Given the description of an element on the screen output the (x, y) to click on. 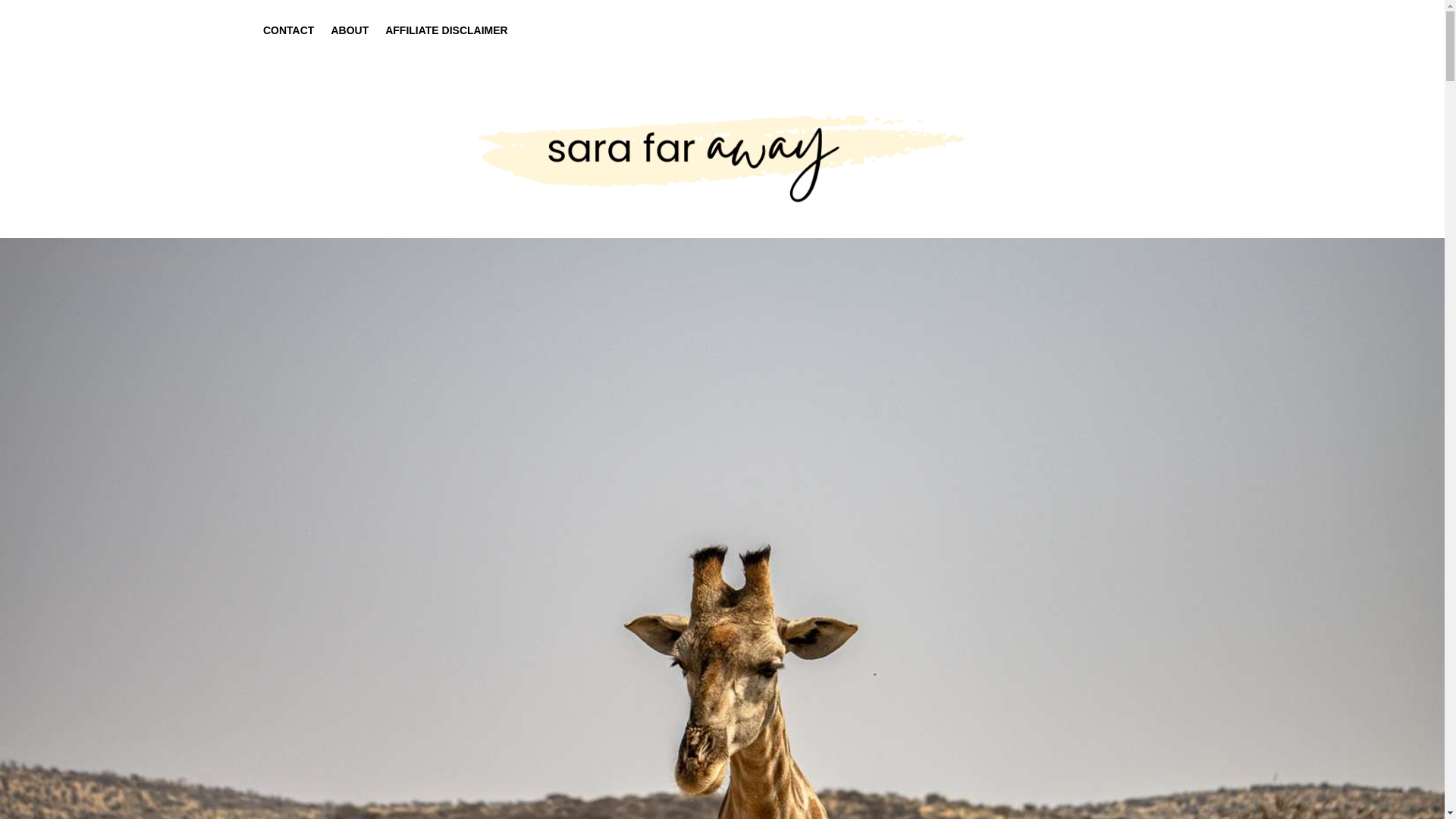
CONTACT (288, 41)
AFFILIATE DISCLAIMER (446, 41)
ABOUT (349, 41)
